Given the description of an element on the screen output the (x, y) to click on. 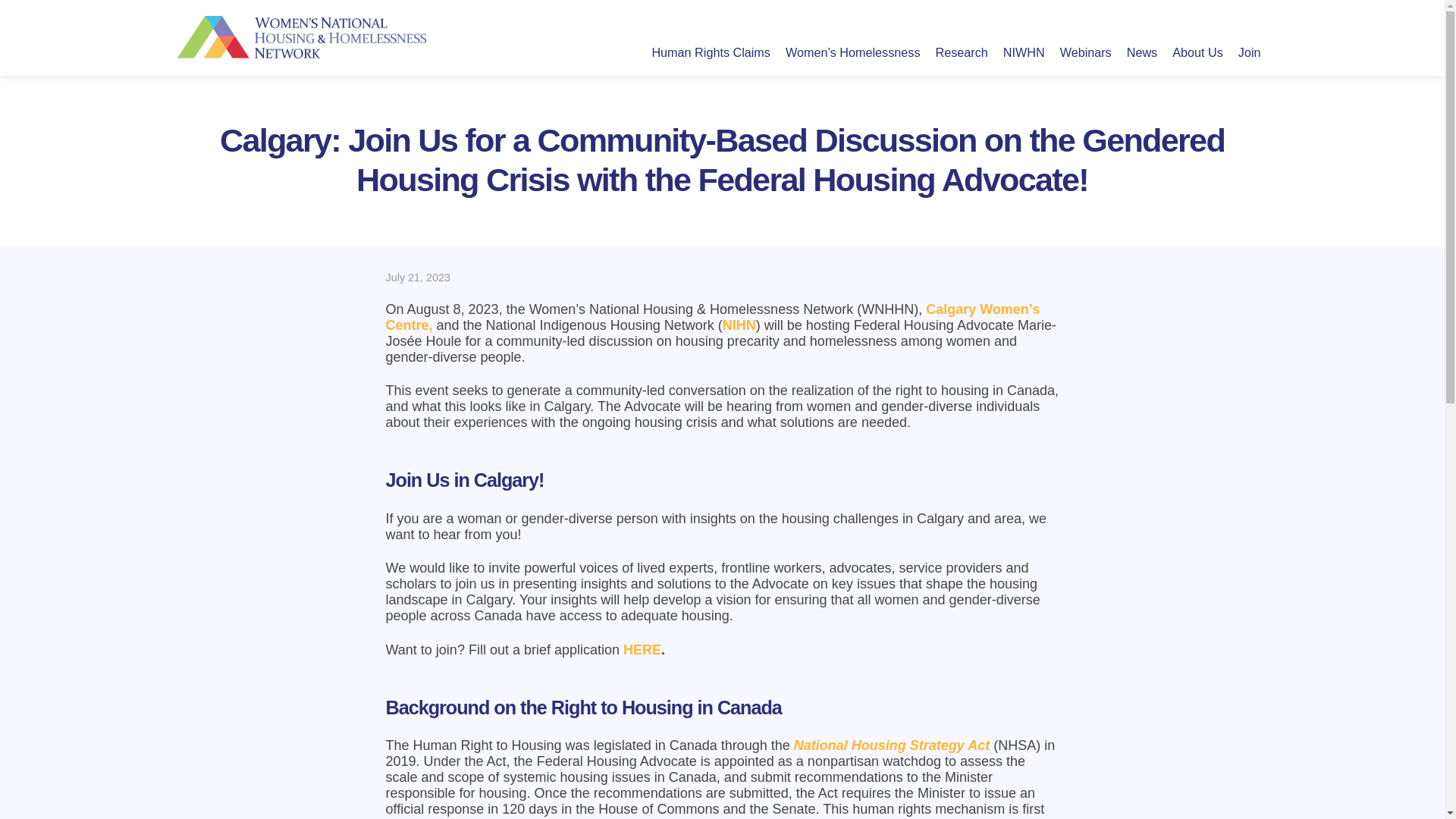
Webinars (1085, 52)
Research (961, 52)
HERE (642, 649)
News (1141, 52)
NIWHN (1023, 52)
NIHN (738, 324)
National Housing Strategy Act (891, 744)
Human Rights Claims (710, 52)
About Us (1197, 52)
